Given the description of an element on the screen output the (x, y) to click on. 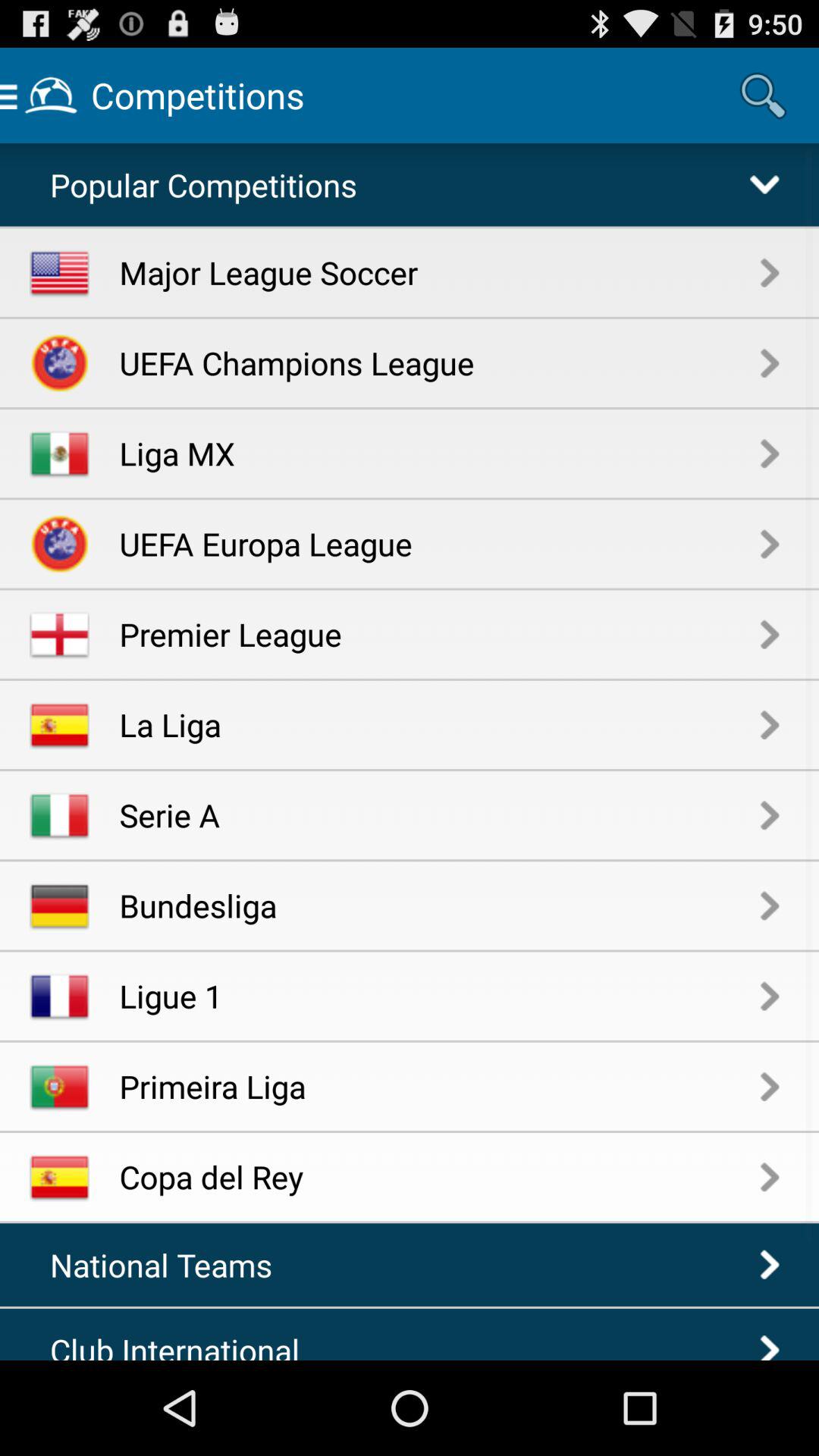
choose the icon below la liga icon (439, 814)
